Given the description of an element on the screen output the (x, y) to click on. 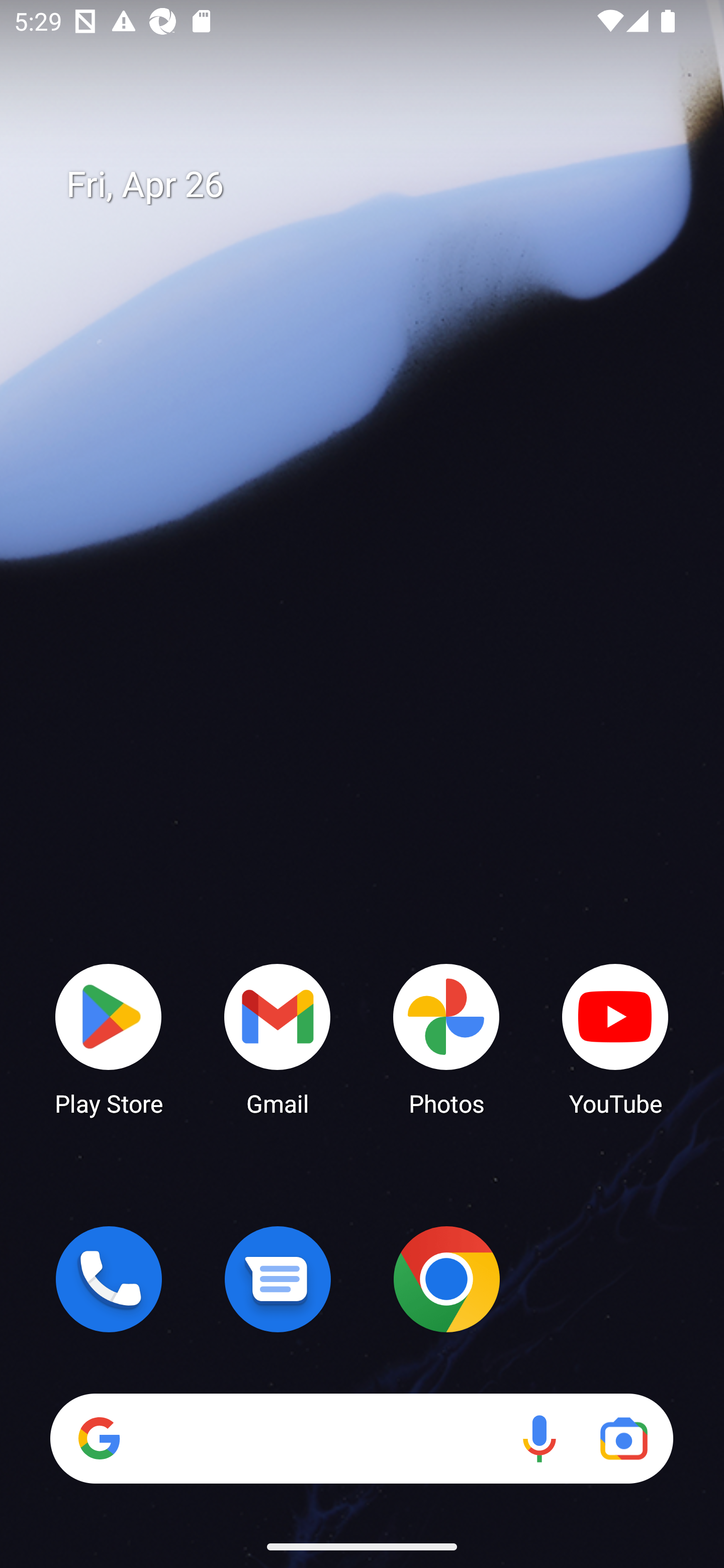
Fri, Apr 26 (375, 184)
Play Store (108, 1038)
Gmail (277, 1038)
Photos (445, 1038)
YouTube (615, 1038)
Phone (108, 1279)
Messages (277, 1279)
Chrome (446, 1279)
Search Voice search Google Lens (361, 1438)
Voice search (539, 1438)
Google Lens (623, 1438)
